Given the description of an element on the screen output the (x, y) to click on. 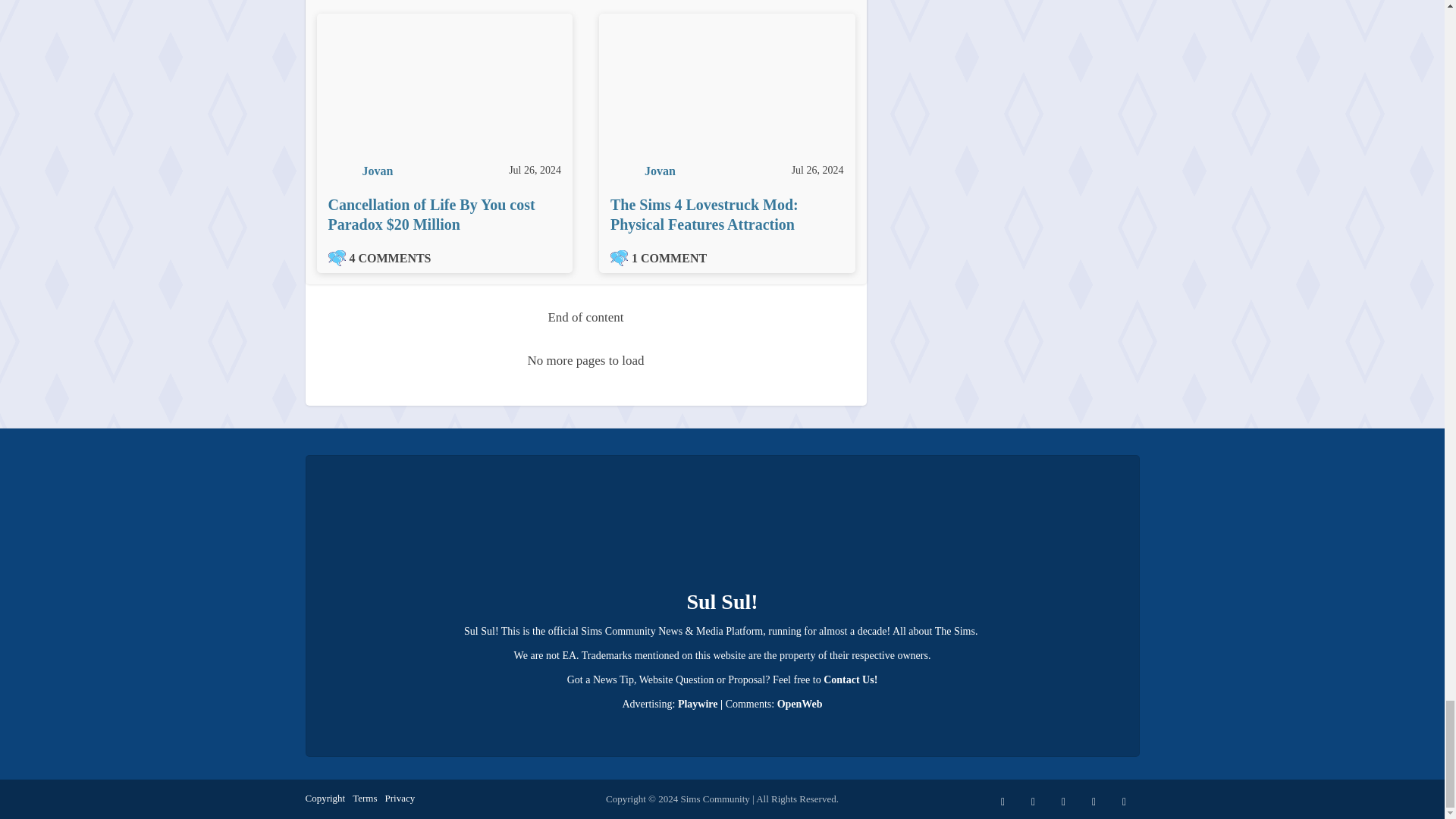
No more pages to load (586, 360)
